Given the description of an element on the screen output the (x, y) to click on. 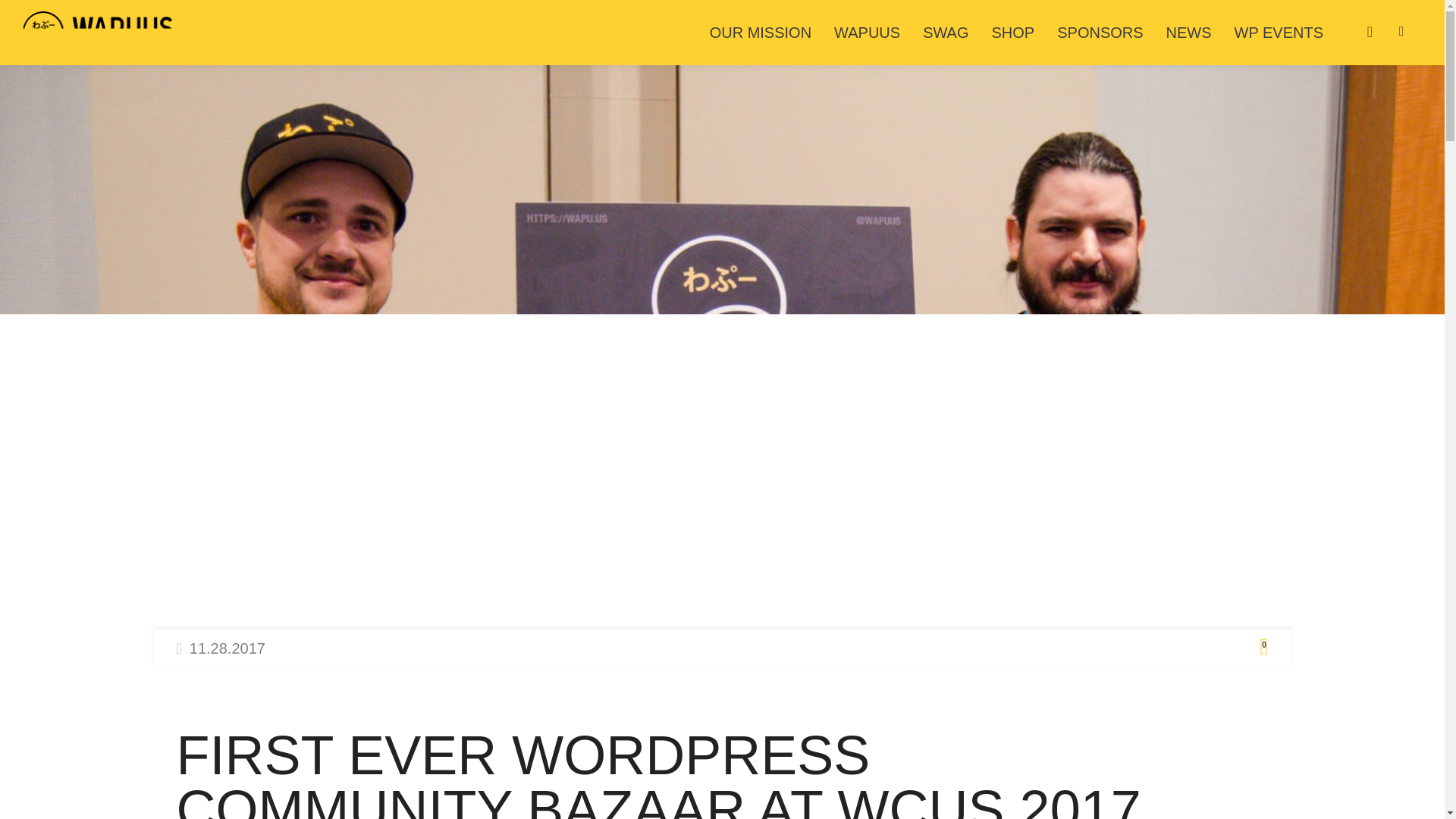
Wapu.us (98, 31)
SHOP (1012, 32)
SPONSORS (1099, 32)
NEWS (1188, 32)
Toggle Search (1406, 31)
WAPUUS (866, 32)
WP EVENTS (1279, 32)
SWAG (945, 32)
OUR MISSION (760, 32)
Toggle Search (1406, 31)
